Given the description of an element on the screen output the (x, y) to click on. 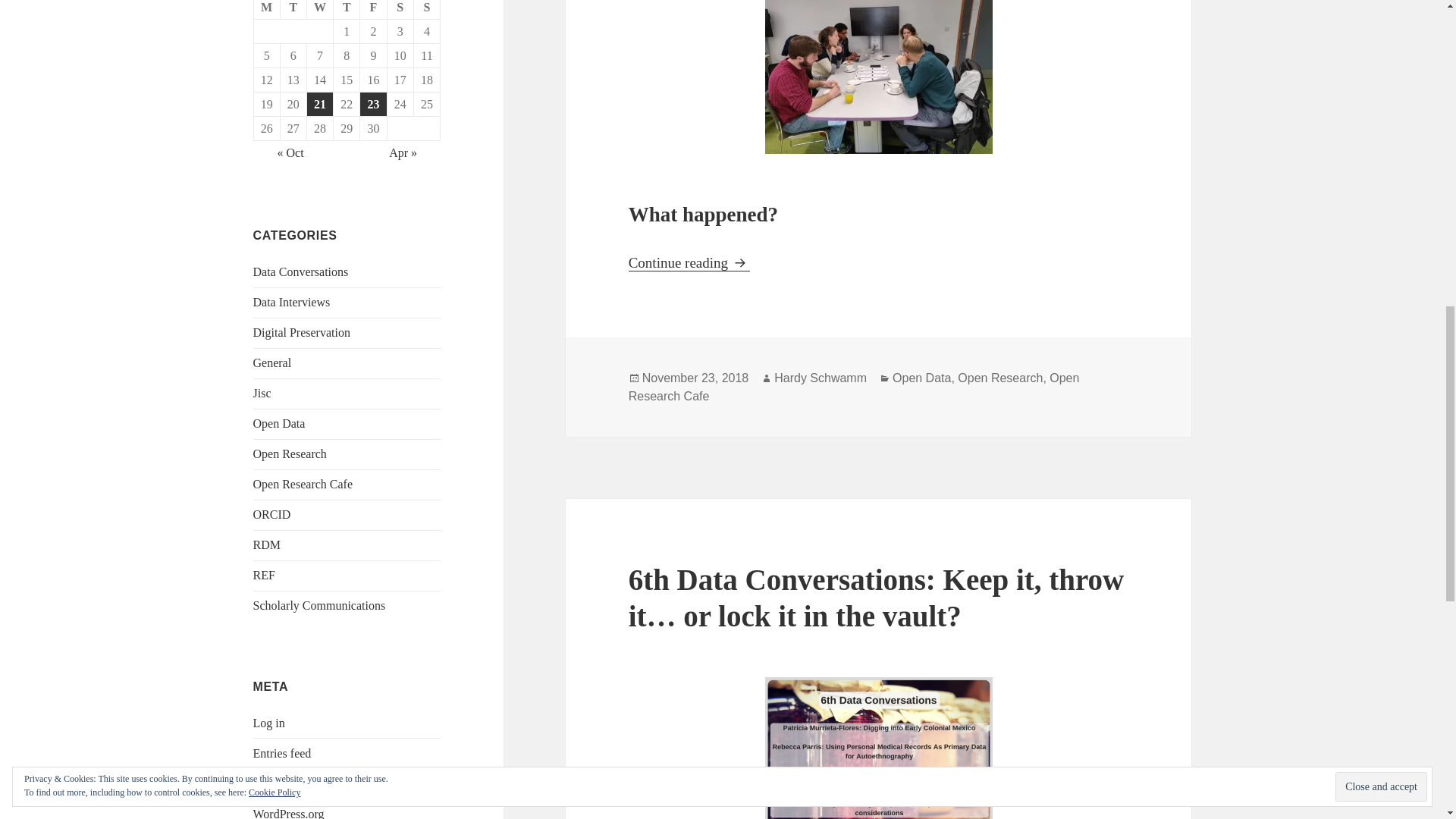
21 (320, 104)
RDM (267, 544)
Scholarly Communications (319, 604)
Digital Preservation (301, 332)
Data Conversations (301, 271)
Log in (269, 722)
Tuesday (294, 9)
ORCID (272, 513)
Open Data (921, 377)
Saturday (400, 9)
